Given the description of an element on the screen output the (x, y) to click on. 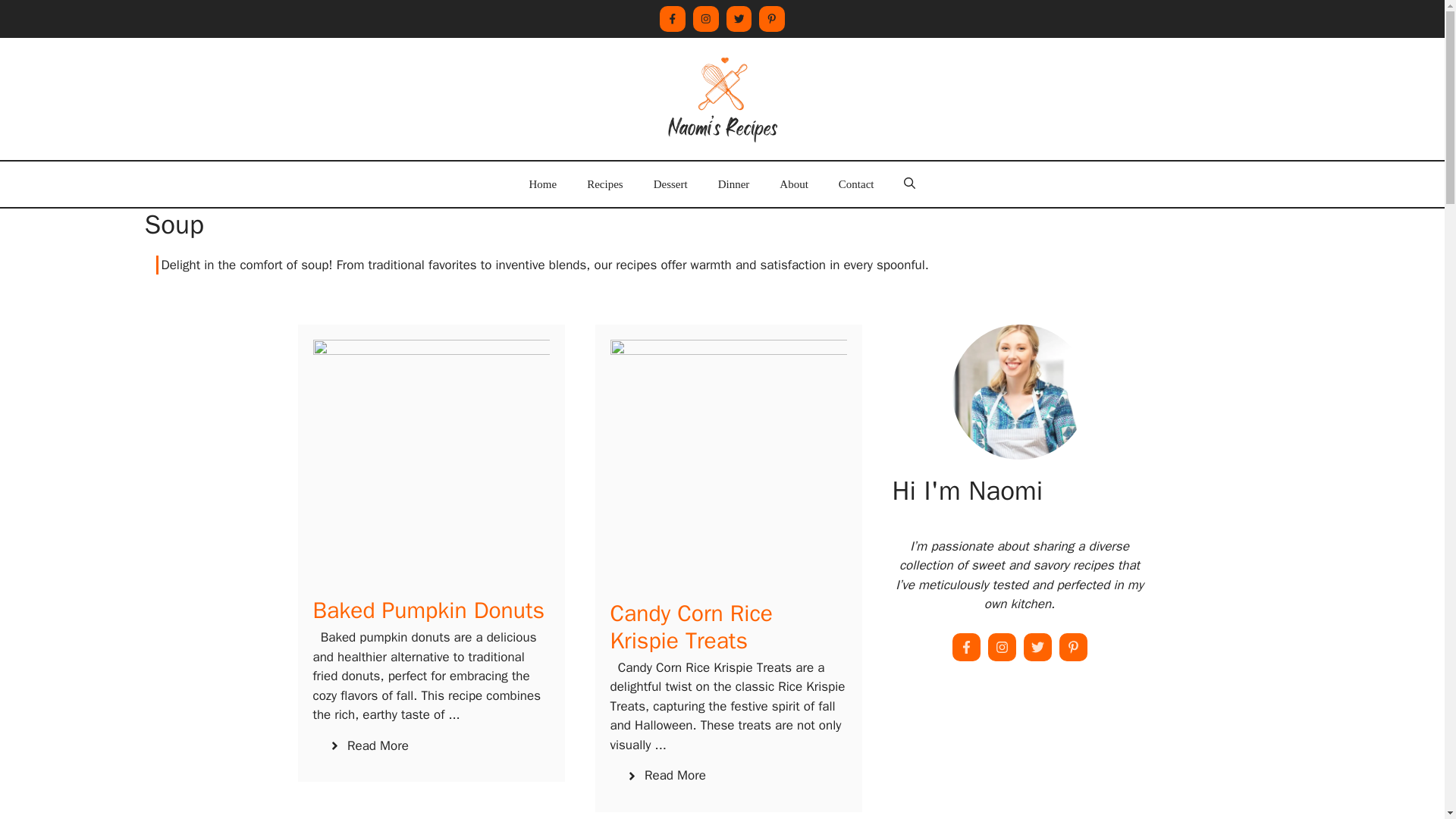
Baked Pumpkin Donuts (428, 610)
Candy Corn Rice Krispie Treats (690, 626)
About (794, 184)
Dessert (671, 184)
Dinner (734, 184)
Read More (665, 775)
Contact (856, 184)
Read More (368, 745)
Recipes (604, 184)
Home (542, 184)
